Given the description of an element on the screen output the (x, y) to click on. 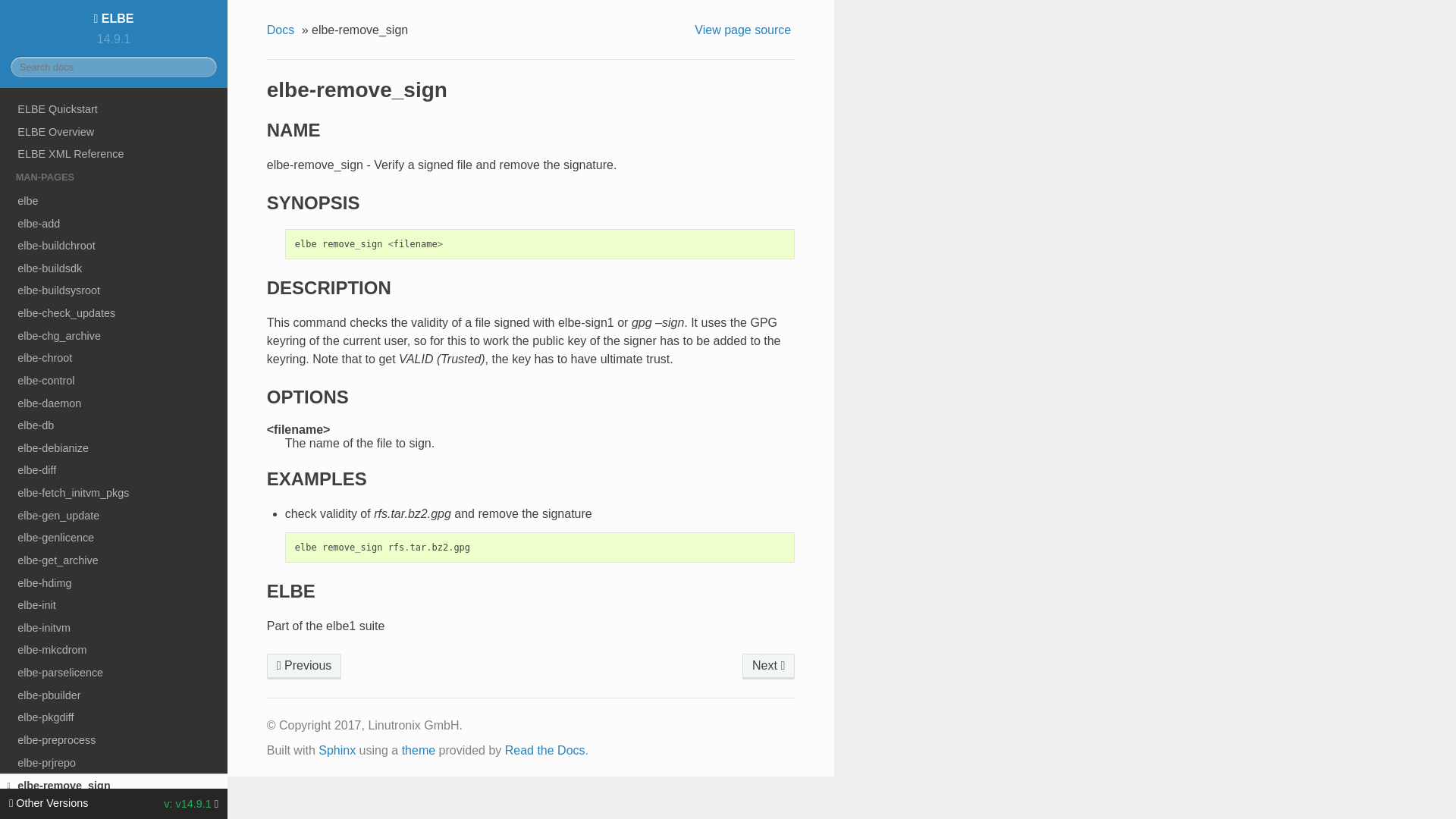
elbe-prjrepo (304, 666)
elbe-repodir (768, 666)
elbe-db (113, 425)
ELBE (113, 18)
elbe-diff (113, 470)
elbe-genlicence (113, 537)
elbe-preprocess (113, 739)
elbe-buildchroot (113, 245)
elbe-control (113, 380)
elbe-chroot (113, 357)
ELBE XML Reference (113, 153)
elbe-daemon (113, 403)
elbe-buildsysroot (113, 291)
elbe-debianize (113, 447)
elbe-buildsdk (113, 268)
